Given the description of an element on the screen output the (x, y) to click on. 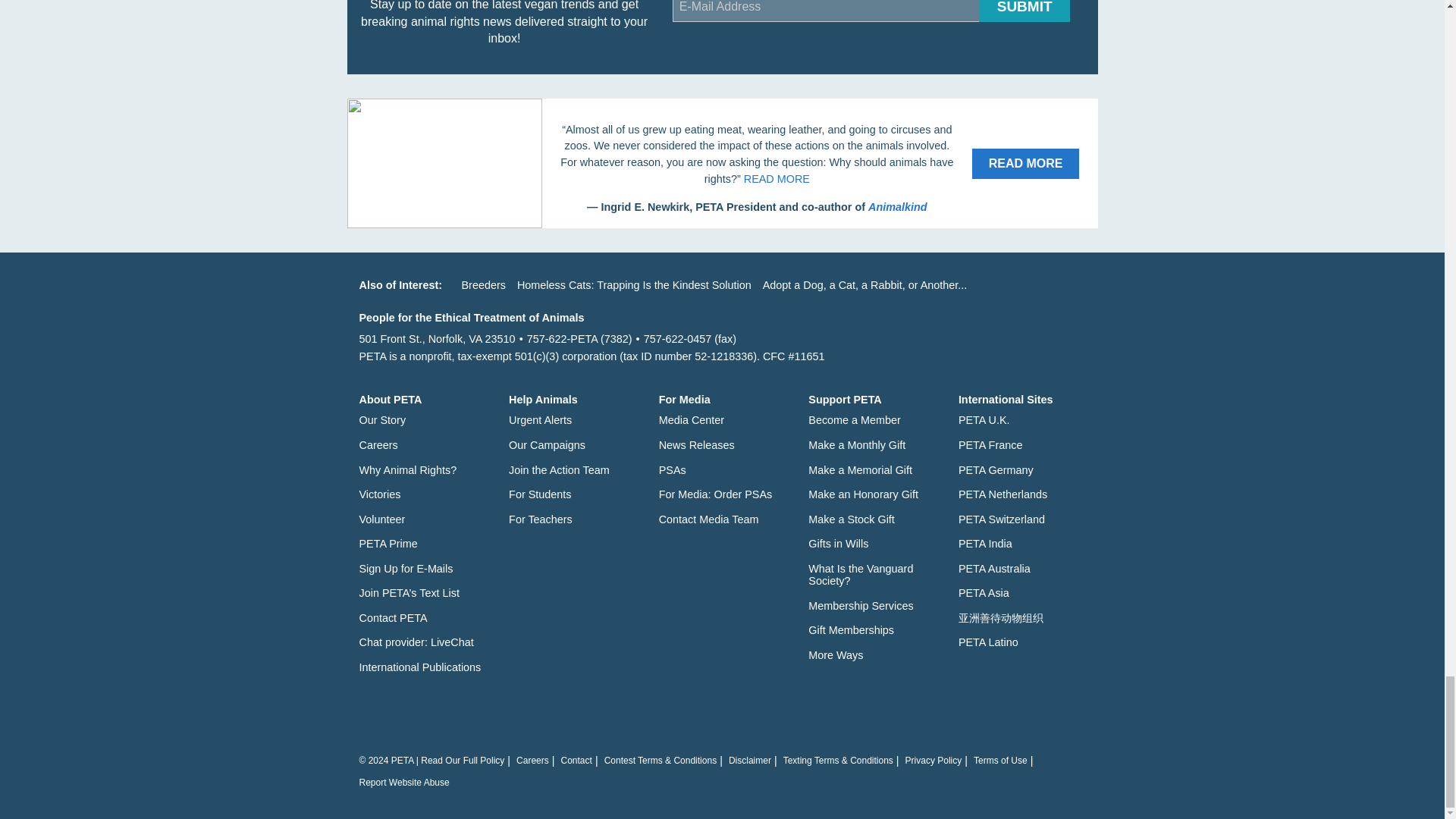
Submit (1024, 11)
